Given the description of an element on the screen output the (x, y) to click on. 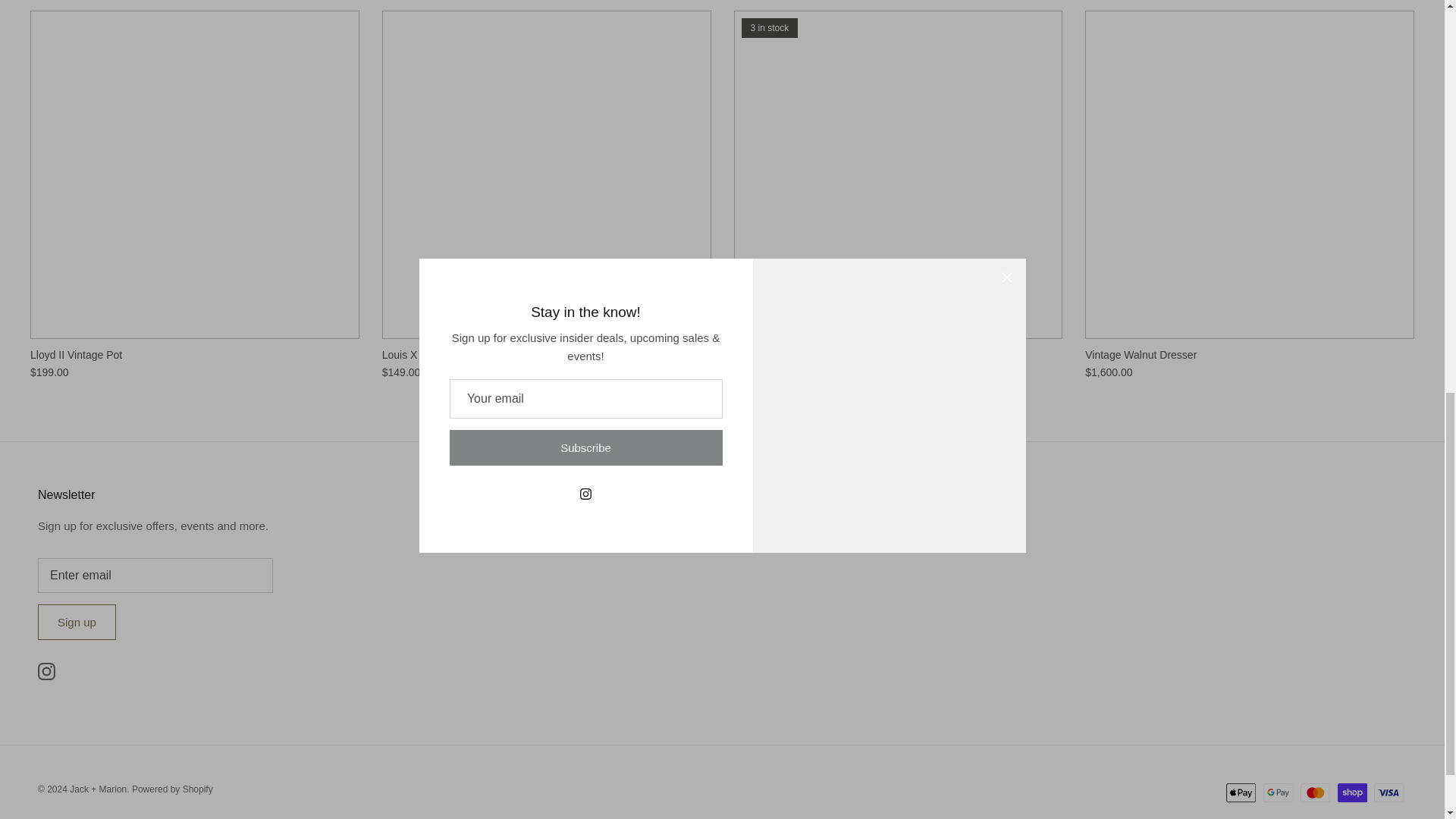
Google Pay (1277, 792)
Apple Pay (1240, 792)
Visa (1388, 792)
Instagram (46, 671)
Mastercard (1315, 792)
Shop Pay (1352, 792)
